Given the description of an element on the screen output the (x, y) to click on. 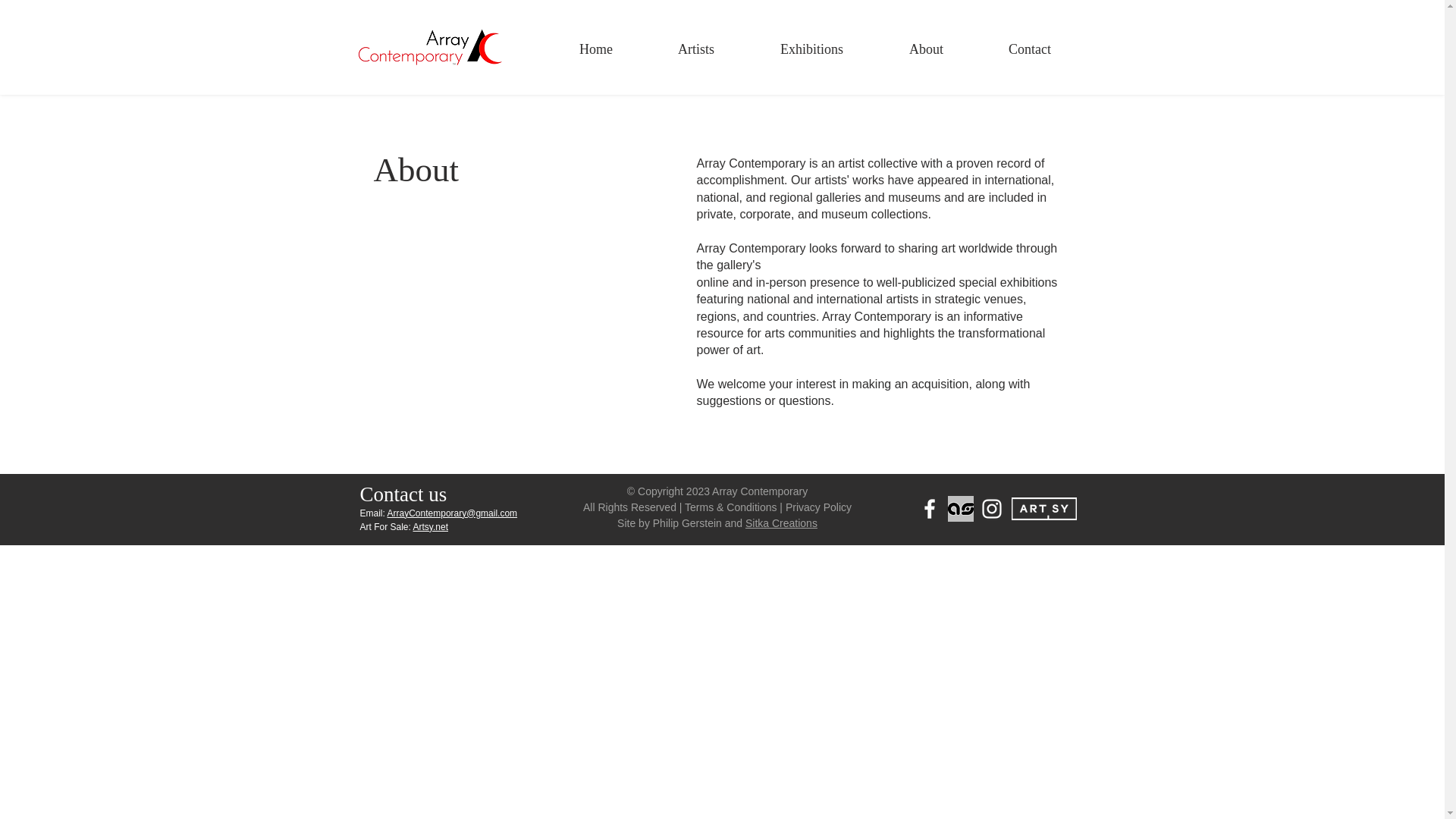
Artsy.net (430, 526)
Contact (1029, 48)
Sitka Creations (780, 522)
About (925, 48)
Exhibitions (810, 48)
Home (595, 48)
Artists (696, 48)
